Given the description of an element on the screen output the (x, y) to click on. 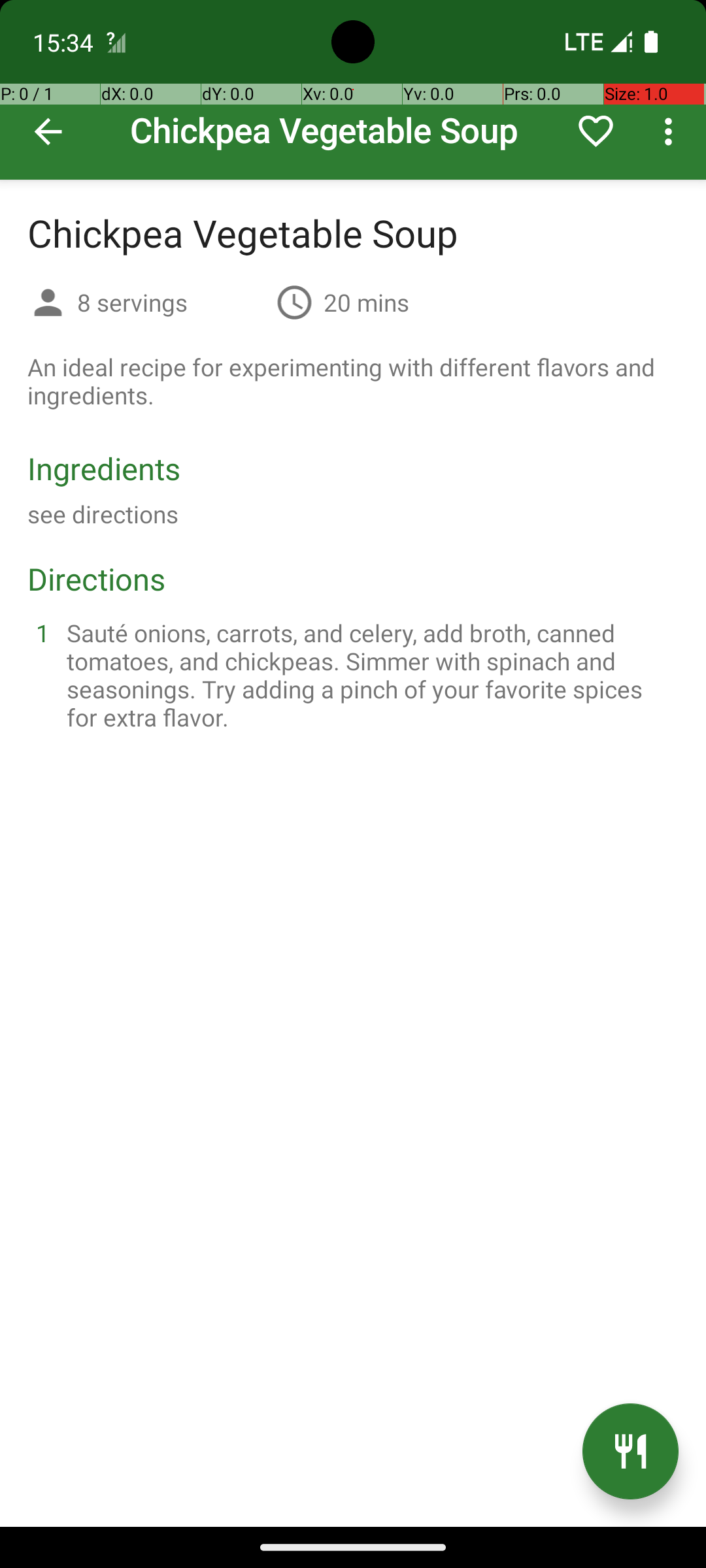
Sauté onions, carrots, and celery, add broth, canned tomatoes, and chickpeas. Simmer with spinach and seasonings. Try adding a pinch of your favorite spices for extra flavor. Element type: android.widget.TextView (368, 674)
